Given the description of an element on the screen output the (x, y) to click on. 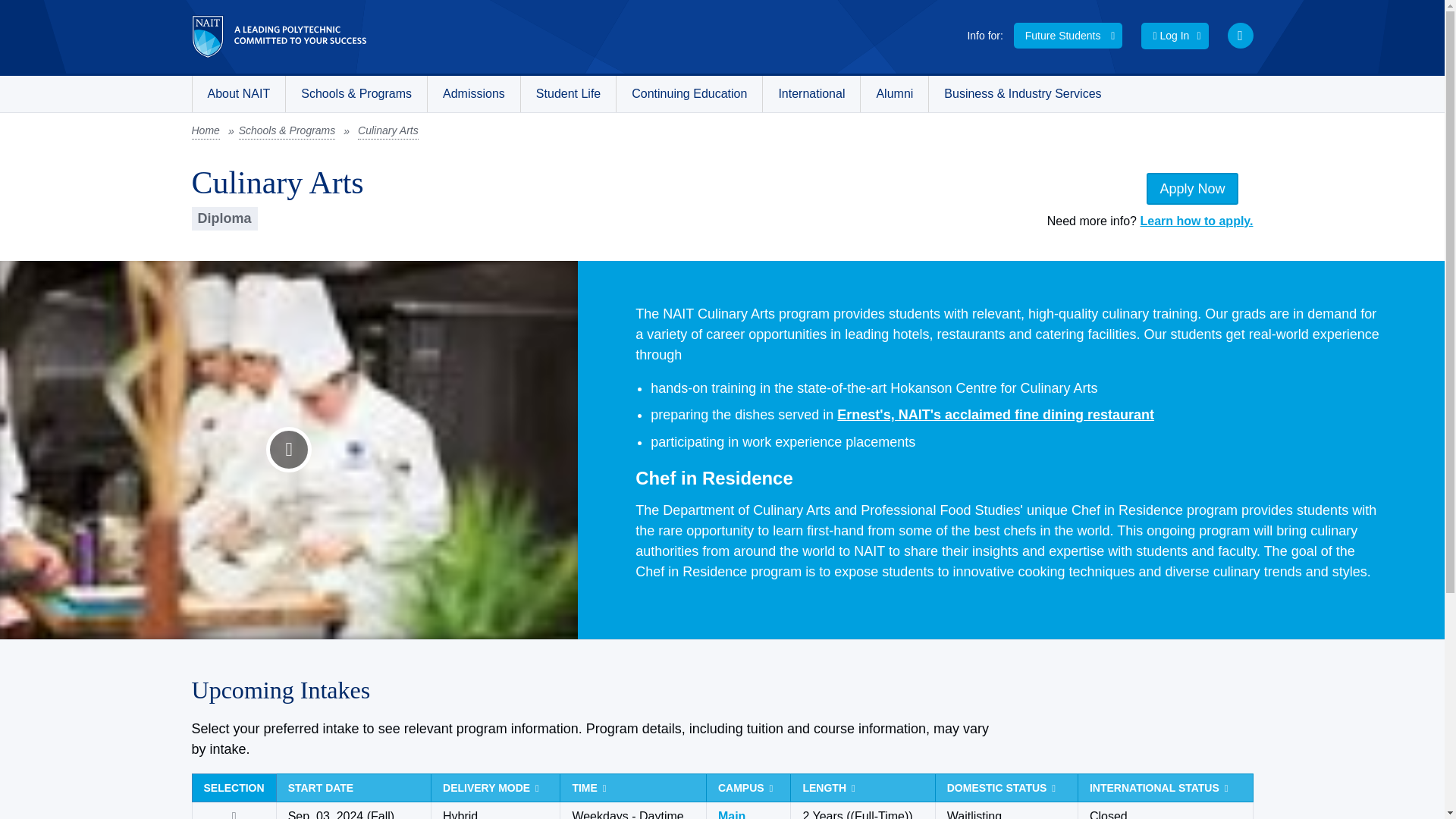
About NAIT (238, 94)
Log In (1174, 35)
Future Students (1067, 35)
NAIT - A Leading Polytechnic Committed to Student Success (277, 36)
